Given the description of an element on the screen output the (x, y) to click on. 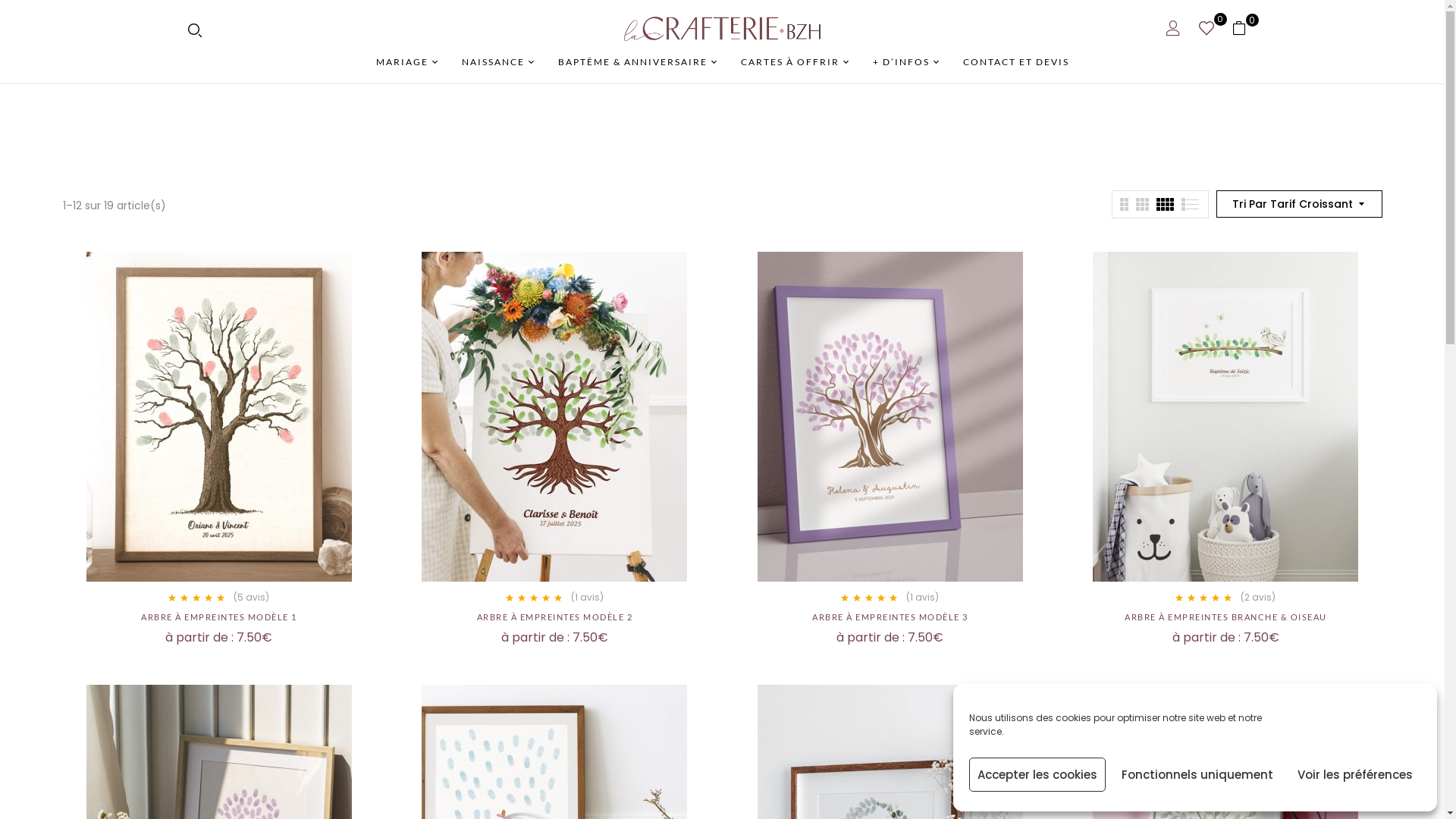
0 Element type: text (1243, 27)
Accepter les cookies Element type: text (1037, 774)
CONTACT ET DEVIS Element type: text (1016, 62)
NAISSANCE Element type: text (497, 62)
Fonctionnels uniquement Element type: text (1197, 774)
MARIAGE Element type: text (407, 62)
